Given the description of an element on the screen output the (x, y) to click on. 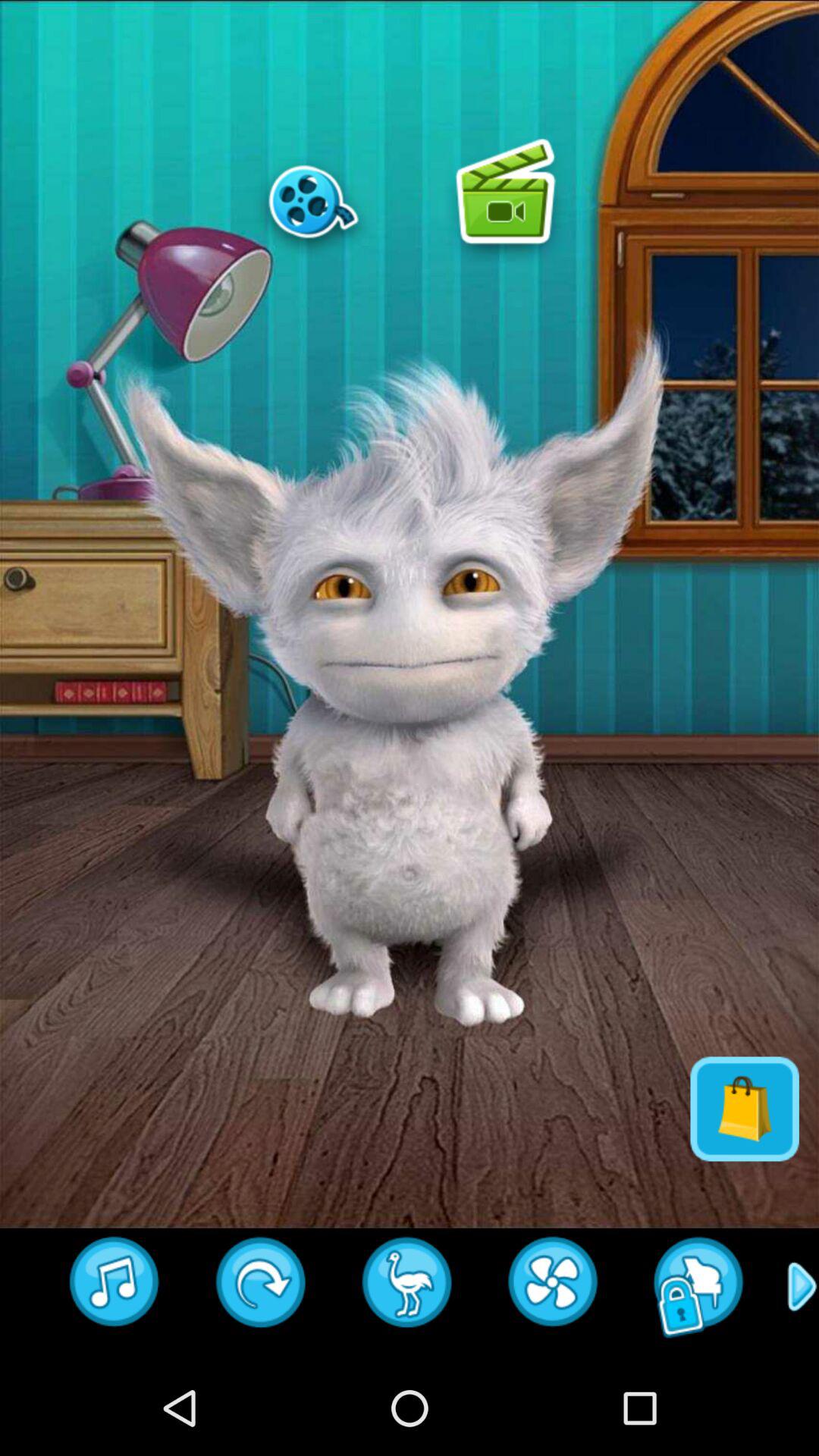
option selection (504, 200)
